Given the description of an element on the screen output the (x, y) to click on. 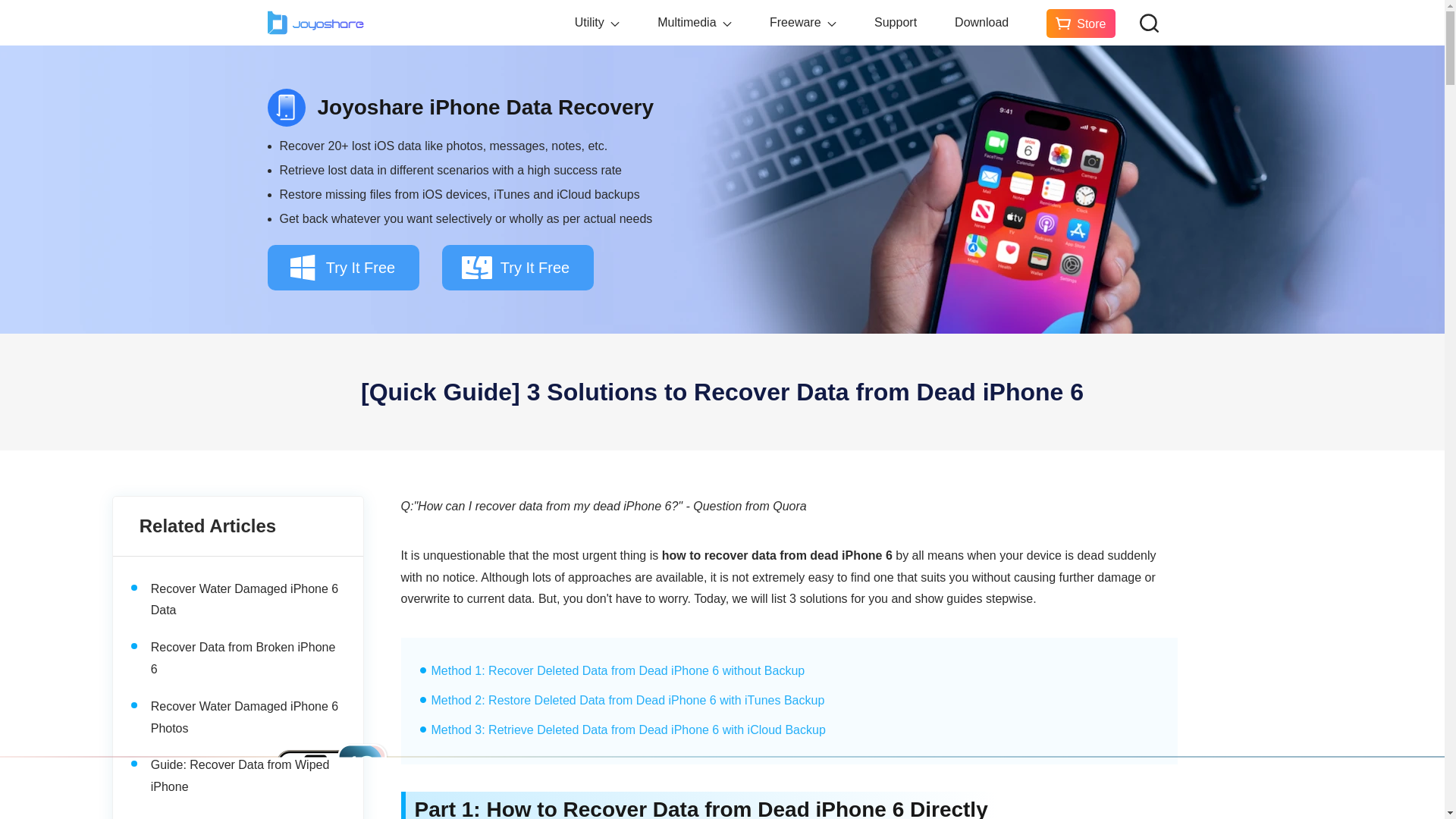
Freeware (803, 22)
Joyoshare iPhone Data Recovery (485, 107)
Multimedia (695, 22)
Store (1080, 23)
Utility (597, 22)
Support (896, 22)
Download (981, 22)
Try It Free (342, 267)
